Given the description of an element on the screen output the (x, y) to click on. 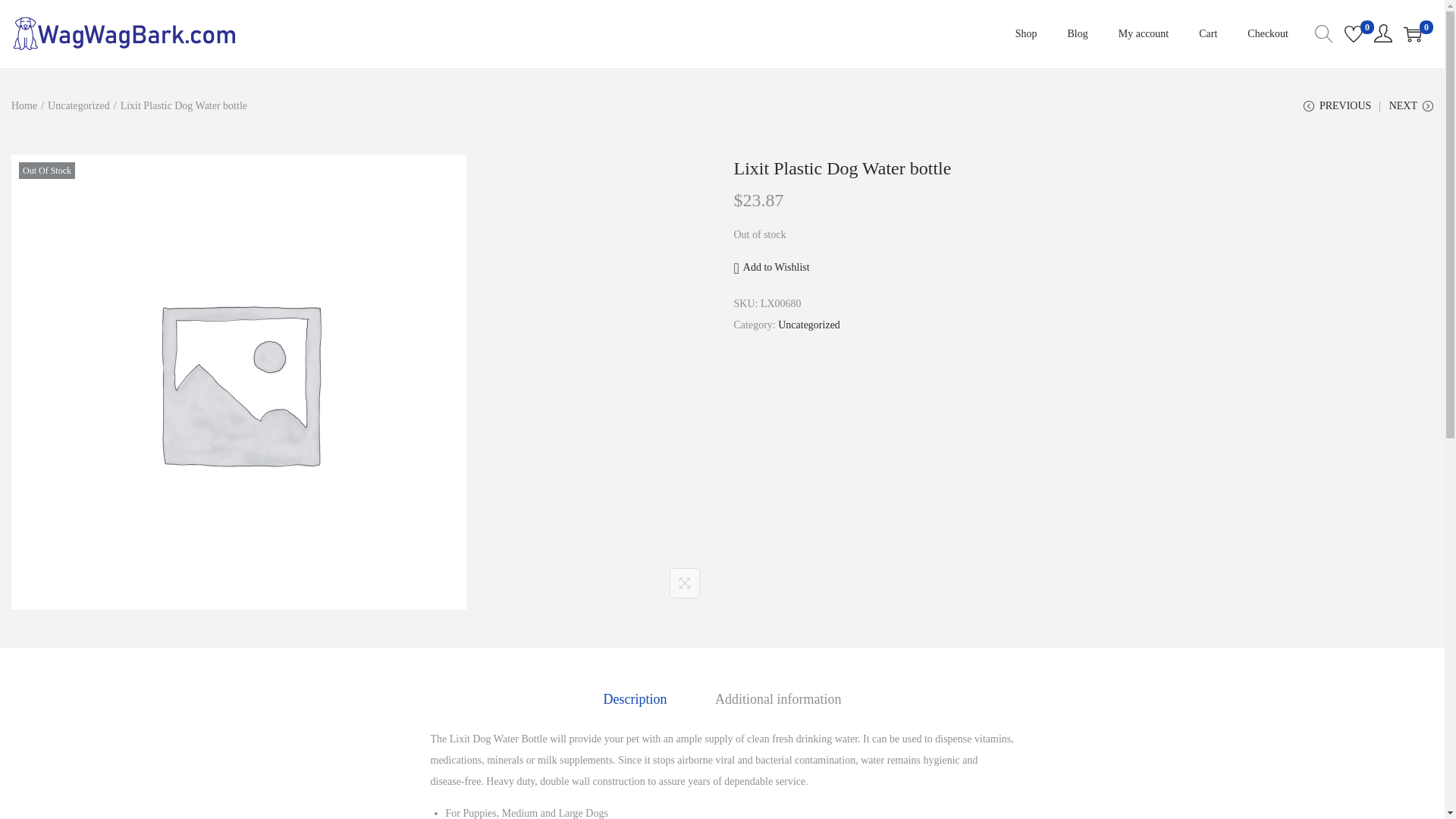
Add to Wishlist (771, 267)
NEXT (1410, 111)
Additional information (777, 699)
Description (635, 699)
PREVIOUS (1337, 111)
0 (1352, 34)
0 (1412, 34)
Lixit Plastic Dog Water bottle (842, 168)
Uncategorized (808, 324)
Uncategorized (79, 105)
Home (24, 105)
